Given the description of an element on the screen output the (x, y) to click on. 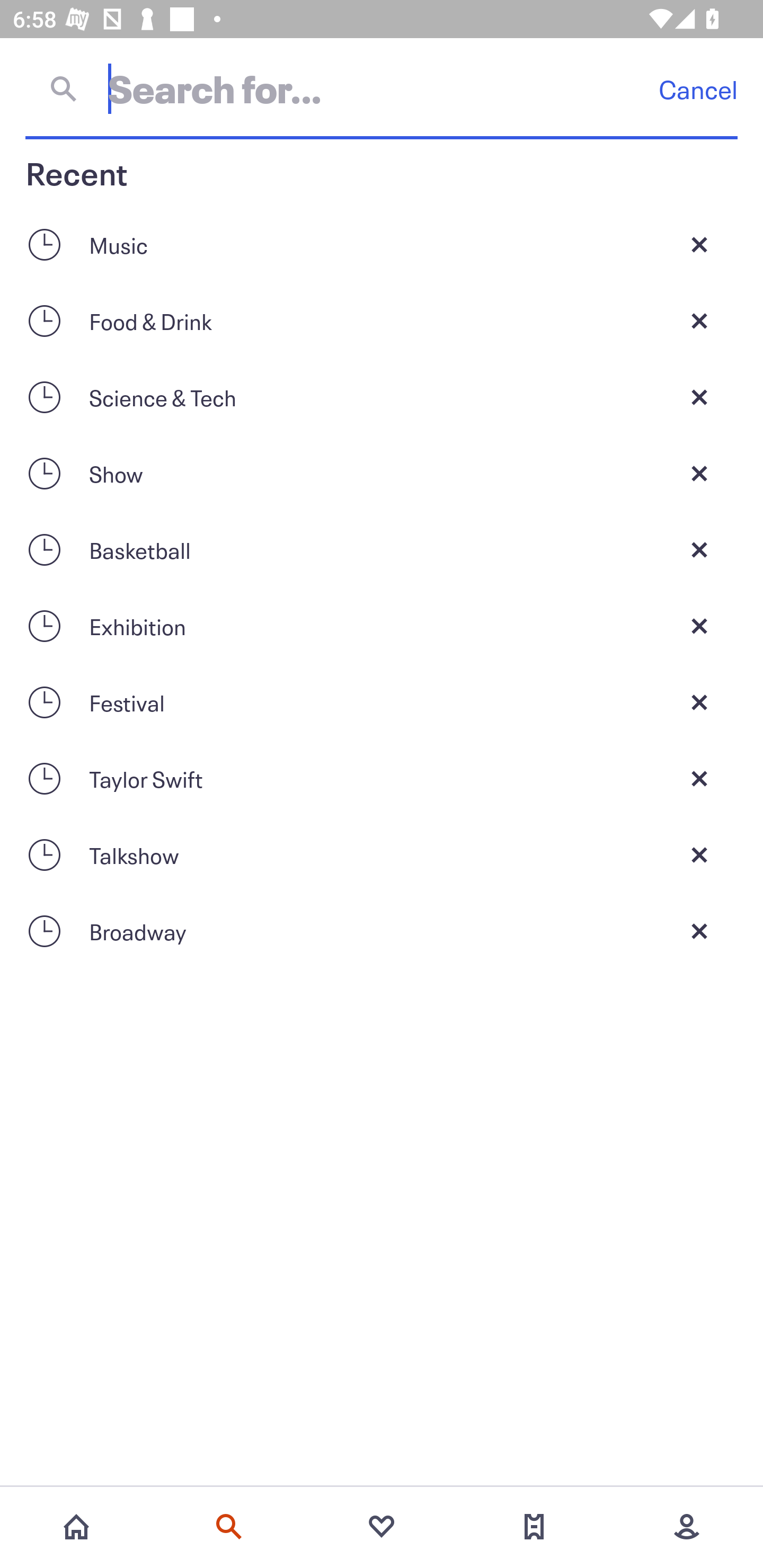
Cancel Search for… (381, 88)
Cancel (697, 89)
Music Close current screen (381, 244)
Close current screen (699, 244)
Food & Drink Close current screen (381, 320)
Close current screen (699, 320)
Science & Tech Close current screen (381, 397)
Close current screen (699, 397)
Show Close current screen (381, 473)
Close current screen (699, 473)
Basketball Close current screen (381, 549)
Close current screen (699, 549)
Exhibition Close current screen (381, 626)
Close current screen (699, 626)
Festival Close current screen (381, 702)
Close current screen (699, 702)
Taylor Swift Close current screen (381, 778)
Close current screen (699, 778)
Talkshow Close current screen (381, 854)
Close current screen (699, 854)
Broadway Close current screen (381, 931)
Close current screen (699, 931)
Home (76, 1526)
Search events (228, 1526)
Favorites (381, 1526)
Tickets (533, 1526)
More (686, 1526)
